Given the description of an element on the screen output the (x, y) to click on. 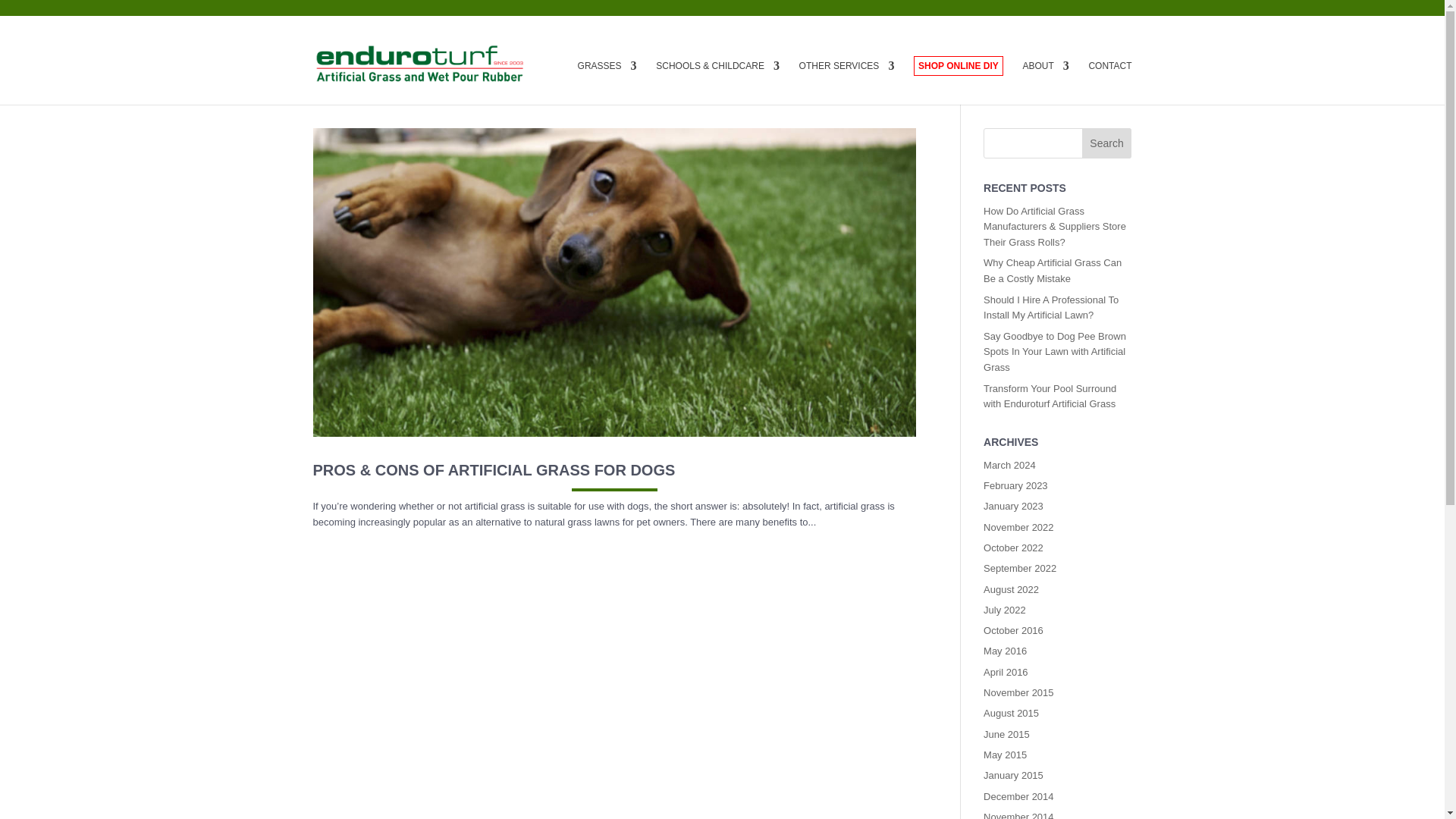
February 2023 (1016, 485)
OTHER SERVICES (847, 82)
ABOUT (1045, 82)
GRASSES (607, 82)
March 2024 (1009, 464)
Search (1106, 142)
SHOP ONLINE DIY (958, 66)
Should I Hire A Professional To Install My Artificial Lawn? (1051, 307)
Why Cheap Artificial Grass Can Be a Costly Mistake (1052, 270)
January 2023 (1013, 505)
Search (1106, 142)
CONTACT (1109, 82)
